Given the description of an element on the screen output the (x, y) to click on. 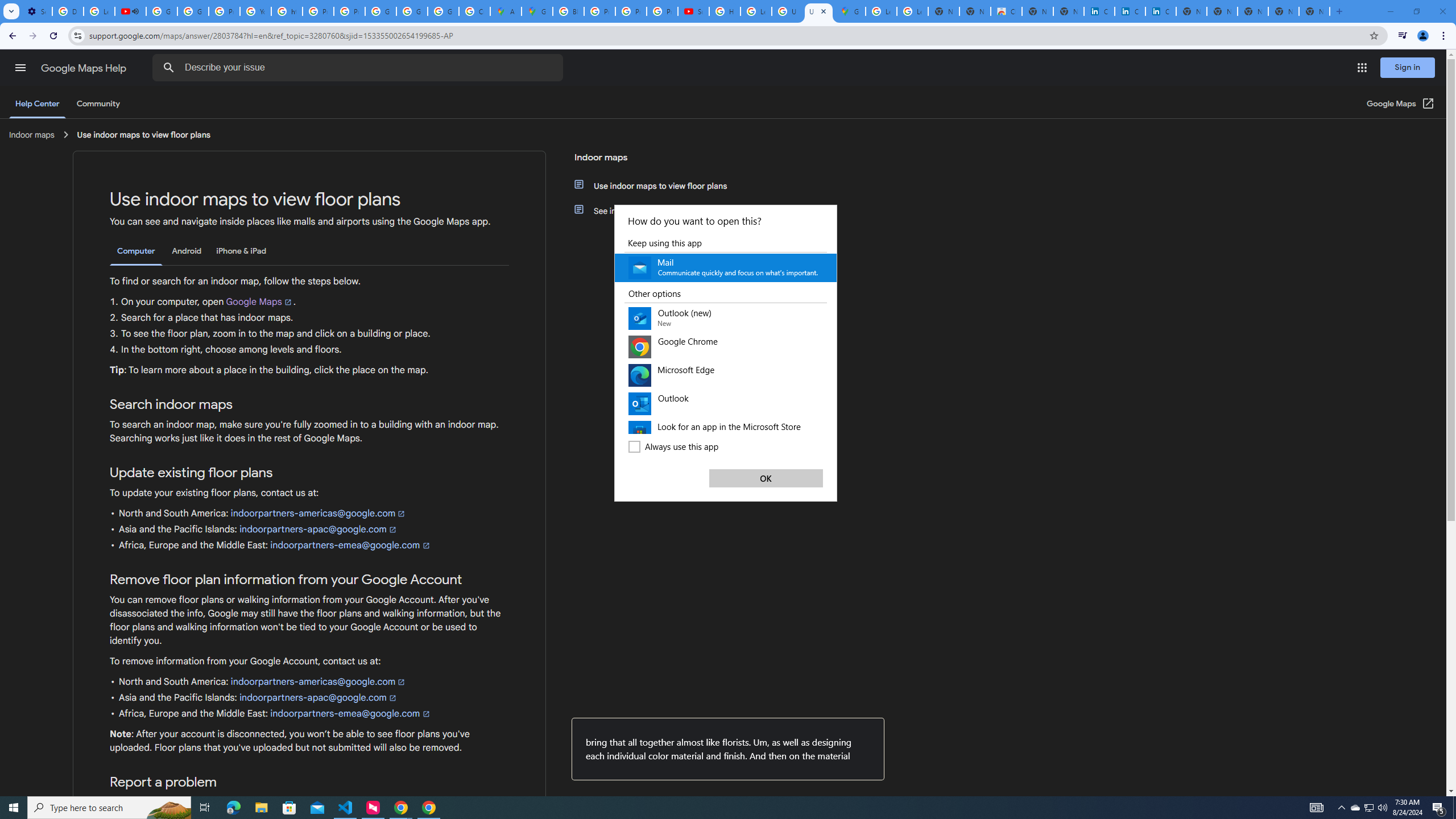
Search highlights icon opens search home window (167, 807)
Help Center (36, 103)
Search Help Center (168, 67)
Always use this app (725, 454)
Notification Chevron (1341, 807)
Cookie Policy | LinkedIn (1098, 11)
File Explorer (261, 807)
Google Maps (536, 11)
